Given the description of an element on the screen output the (x, y) to click on. 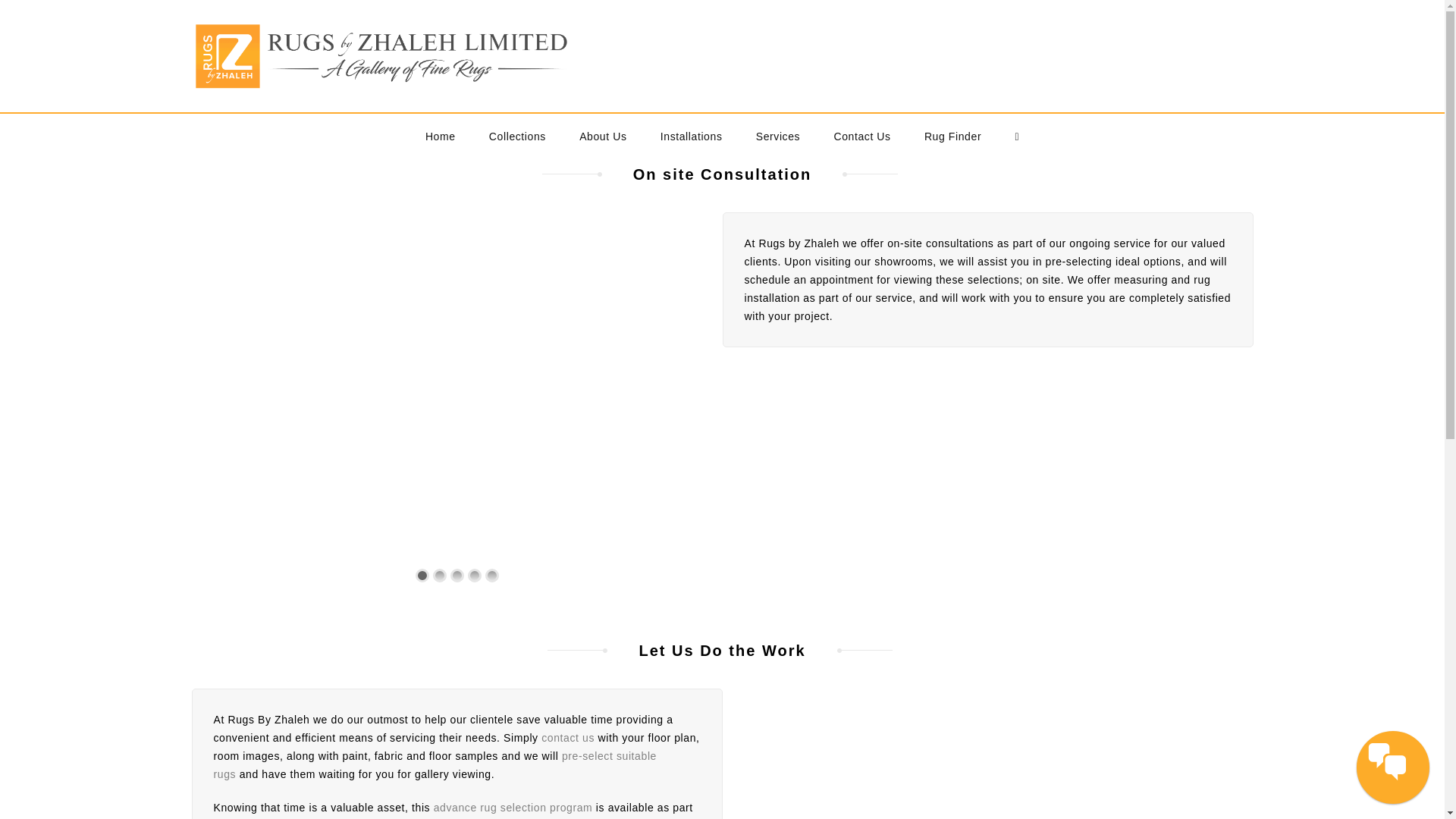
Home (440, 135)
Rug Finder (951, 135)
Services (778, 135)
Collections (517, 135)
Installations (691, 135)
About Us (603, 135)
Rugs by Zhaleh (380, 55)
Contact Us (861, 135)
